Given the description of an element on the screen output the (x, y) to click on. 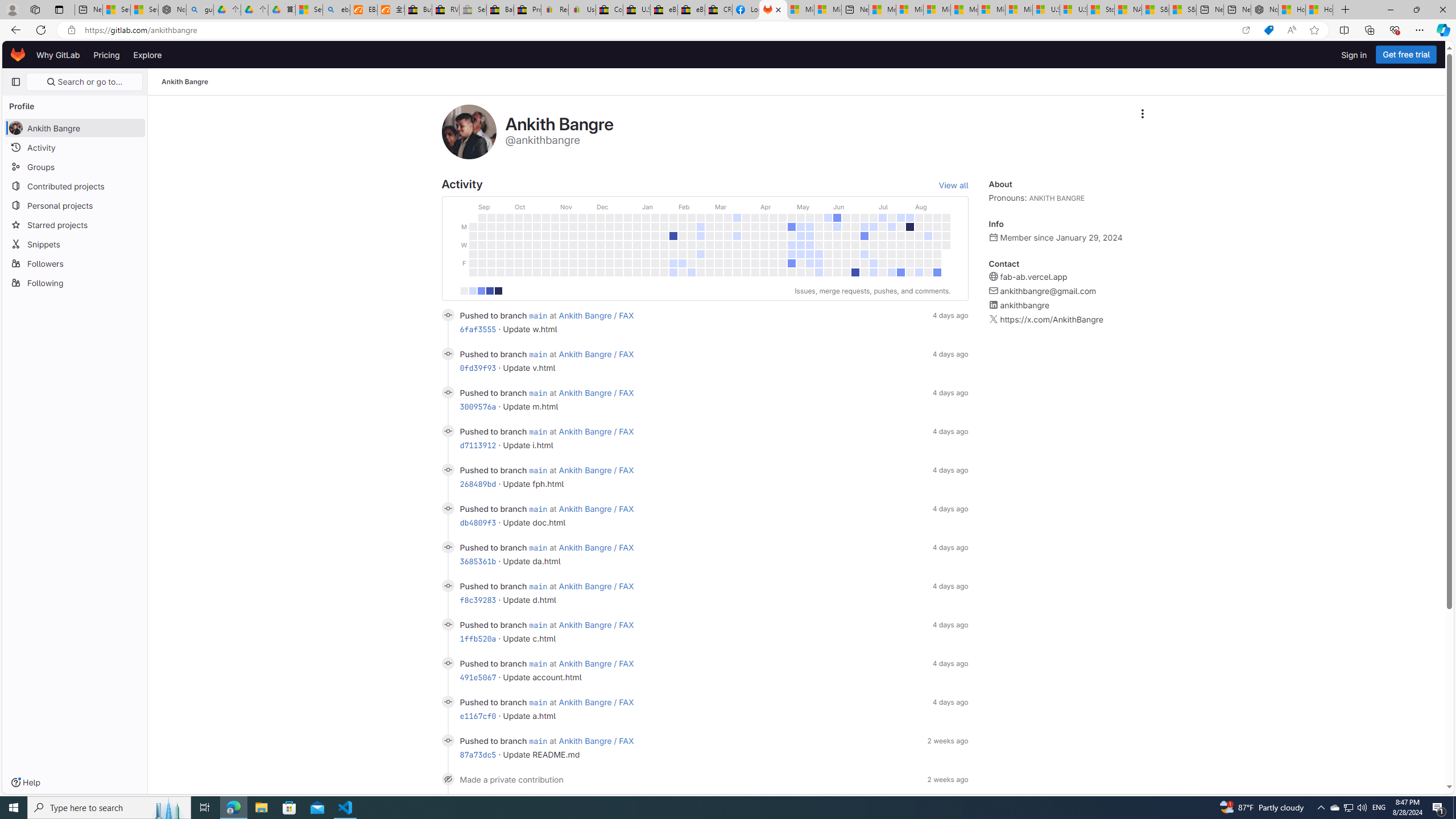
Followers (74, 262)
Groups (74, 166)
10-19 contributions (480, 290)
